Given the description of an element on the screen output the (x, y) to click on. 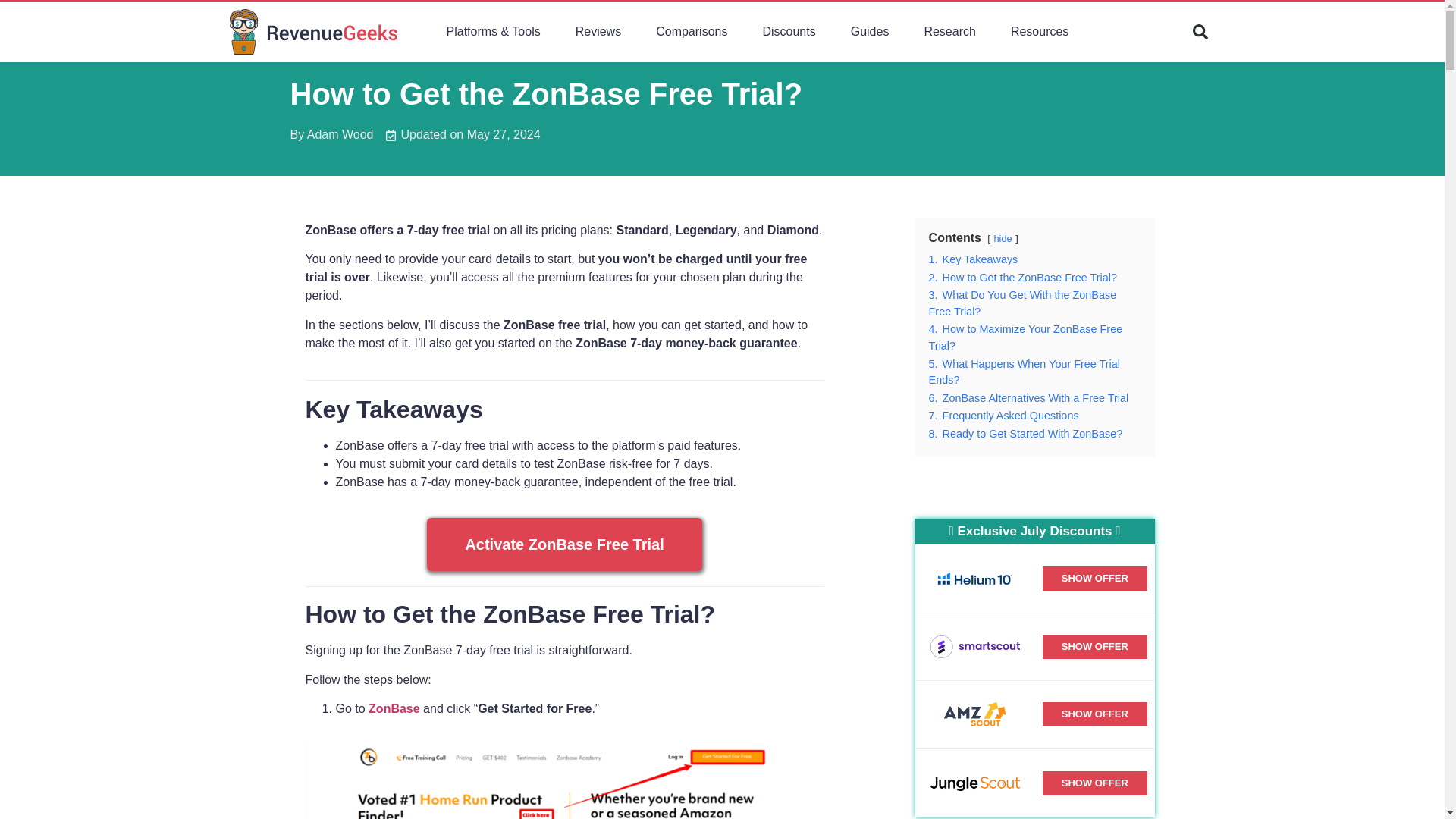
Reviews (598, 31)
Activate ZonBase Free Trial (563, 543)
Resources (1039, 31)
Comparisons (691, 31)
Research (949, 31)
By Adam Wood (330, 135)
Guides (869, 31)
ZonBase (394, 707)
Discounts (787, 31)
